Given the description of an element on the screen output the (x, y) to click on. 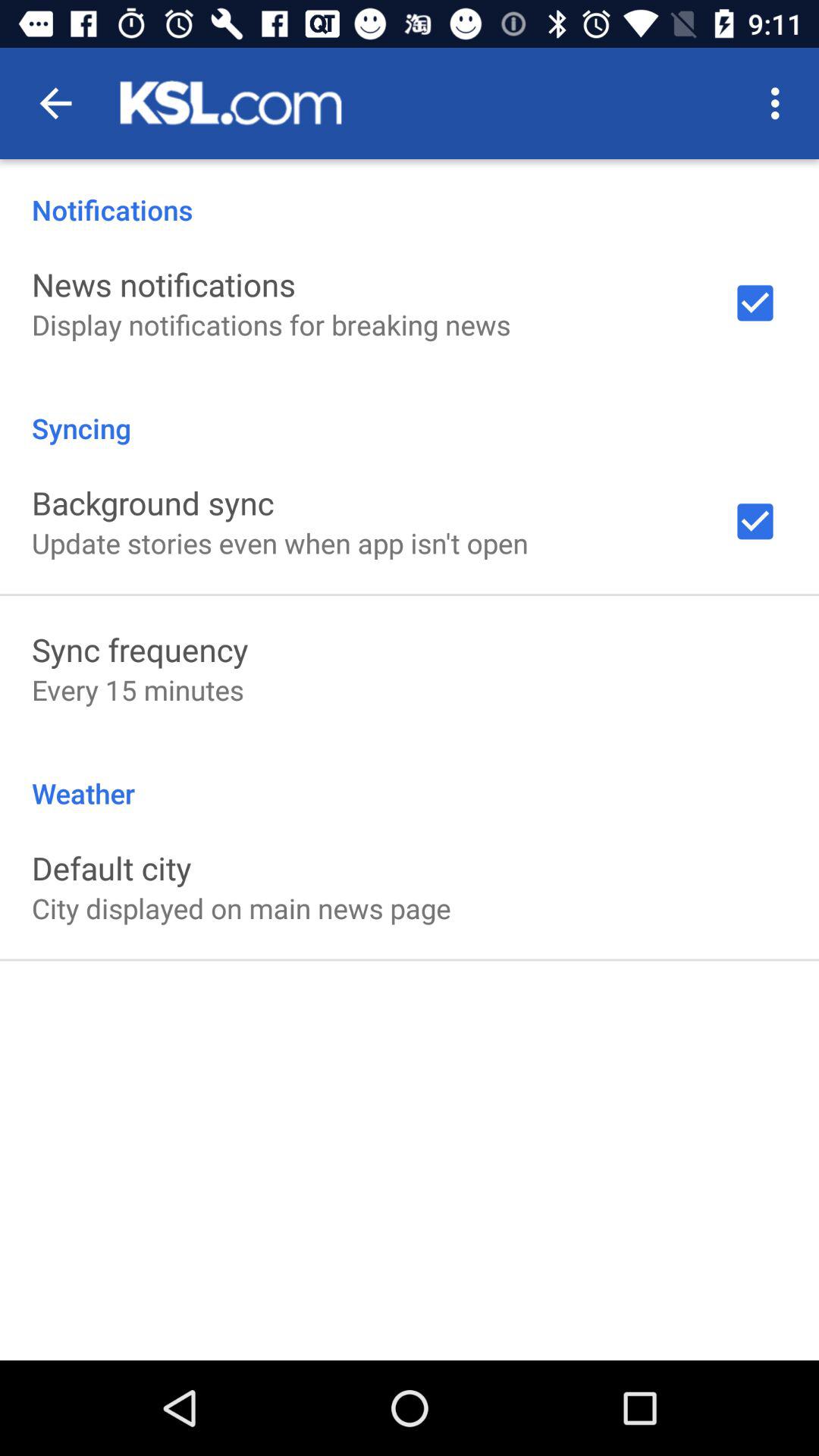
choose the every 15 minutes (137, 689)
